Given the description of an element on the screen output the (x, y) to click on. 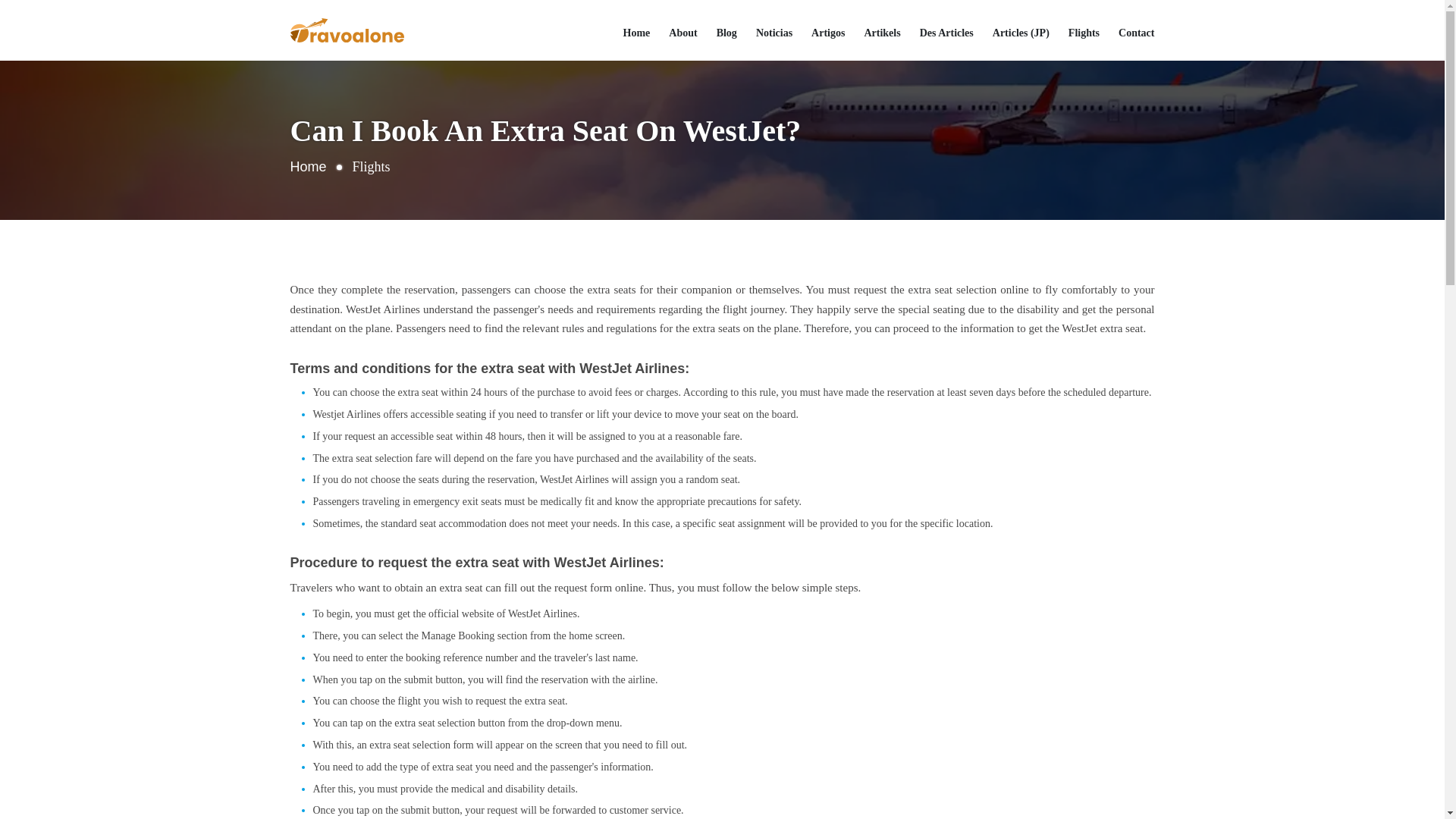
Noticias (773, 32)
Home (307, 167)
About (682, 32)
Home (636, 32)
Artigos (827, 32)
Flights (1083, 32)
Artikels (881, 32)
Des Articles (947, 32)
Contact (1136, 32)
